Given the description of an element on the screen output the (x, y) to click on. 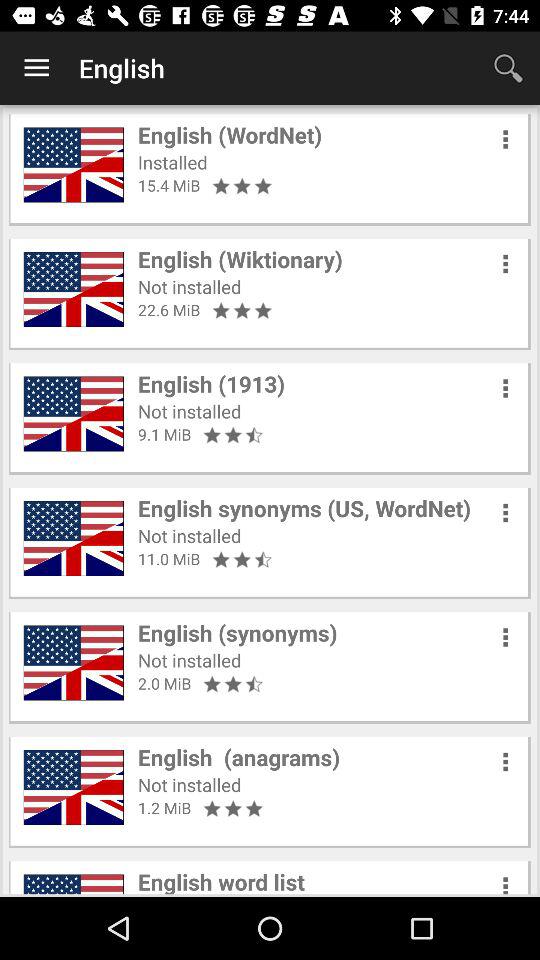
choose the english (wiktionary) item (240, 259)
